Given the description of an element on the screen output the (x, y) to click on. 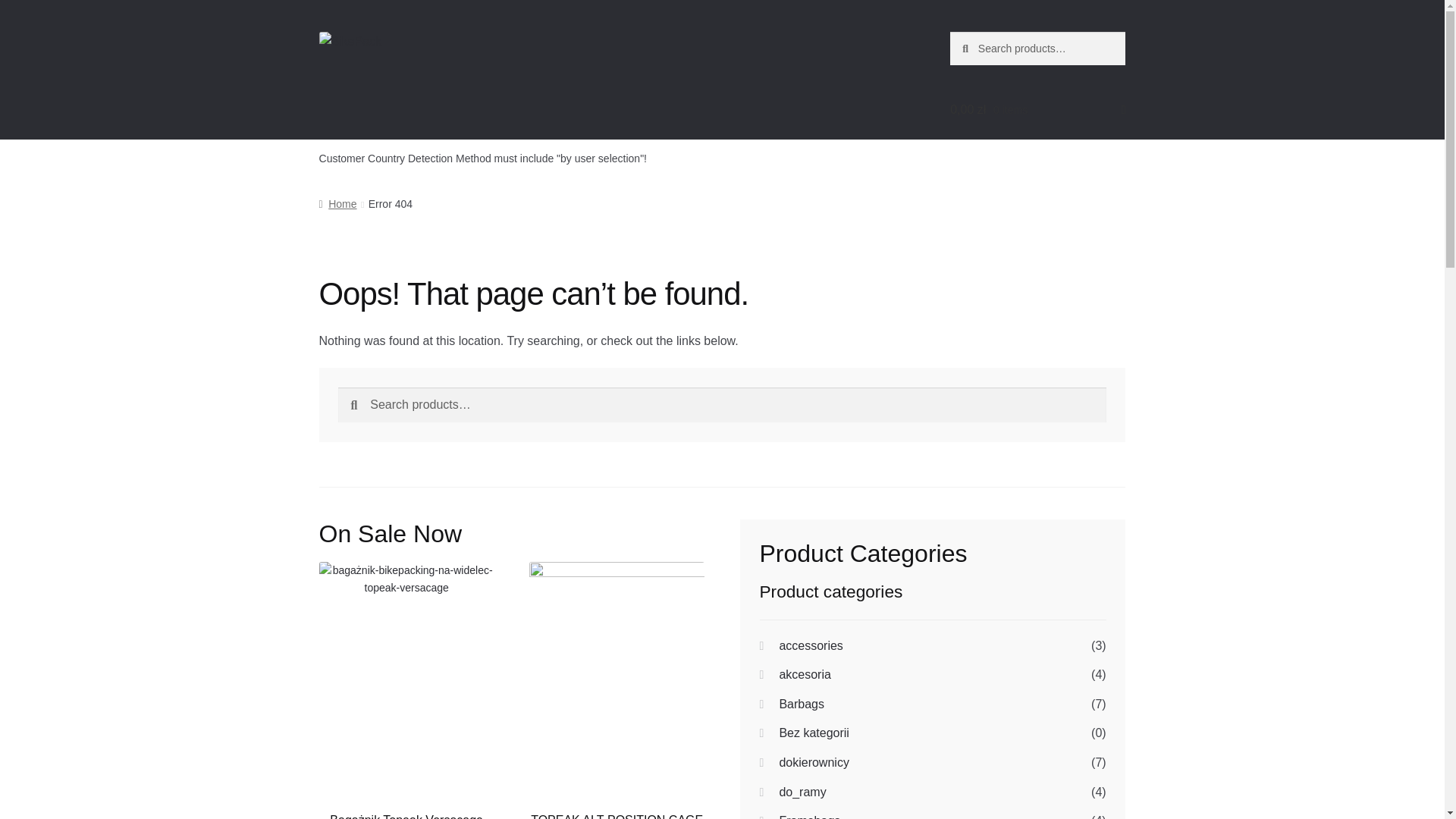
View your shopping cart (1037, 109)
